Given the description of an element on the screen output the (x, y) to click on. 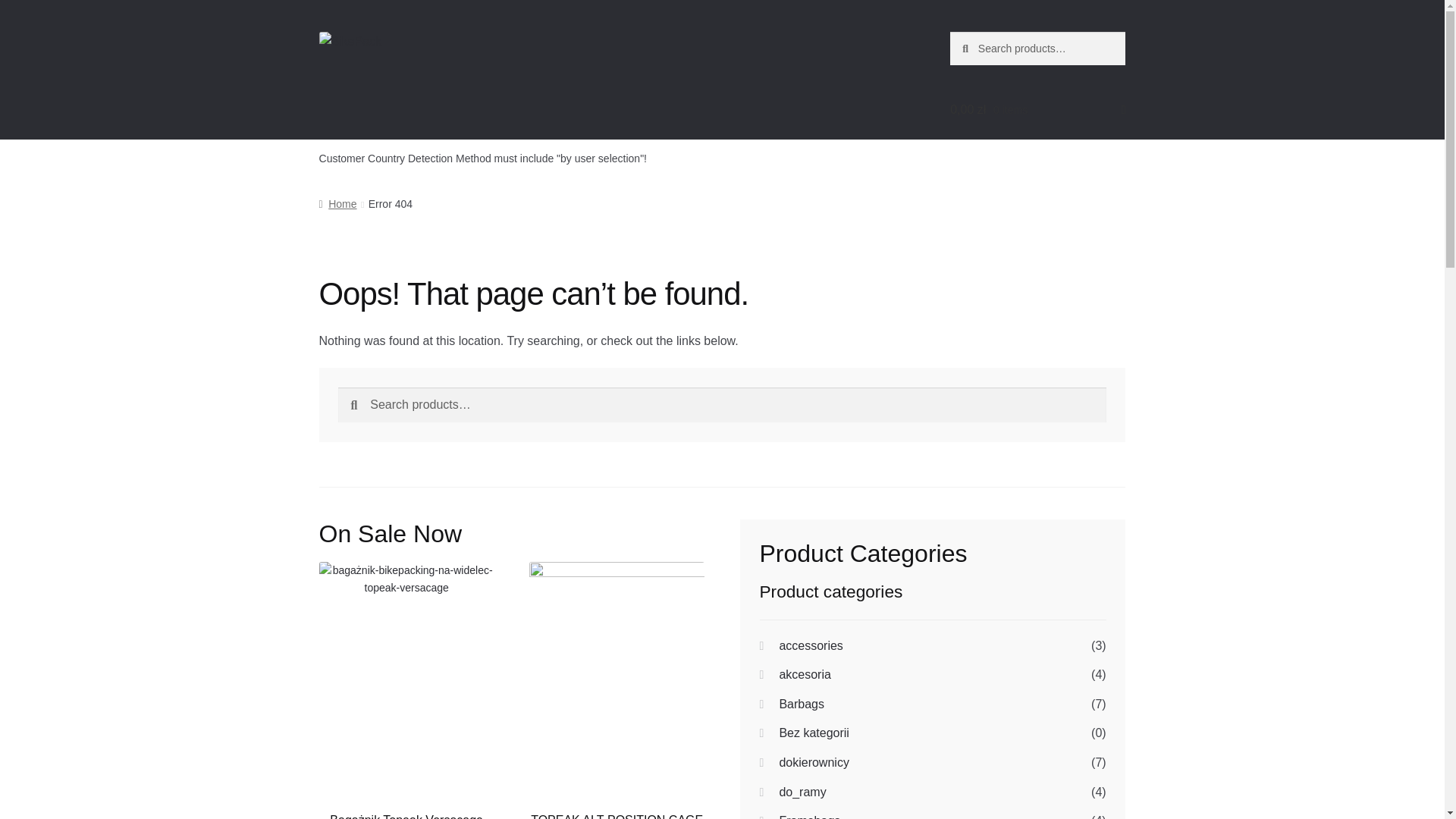
View your shopping cart (1037, 109)
